Given the description of an element on the screen output the (x, y) to click on. 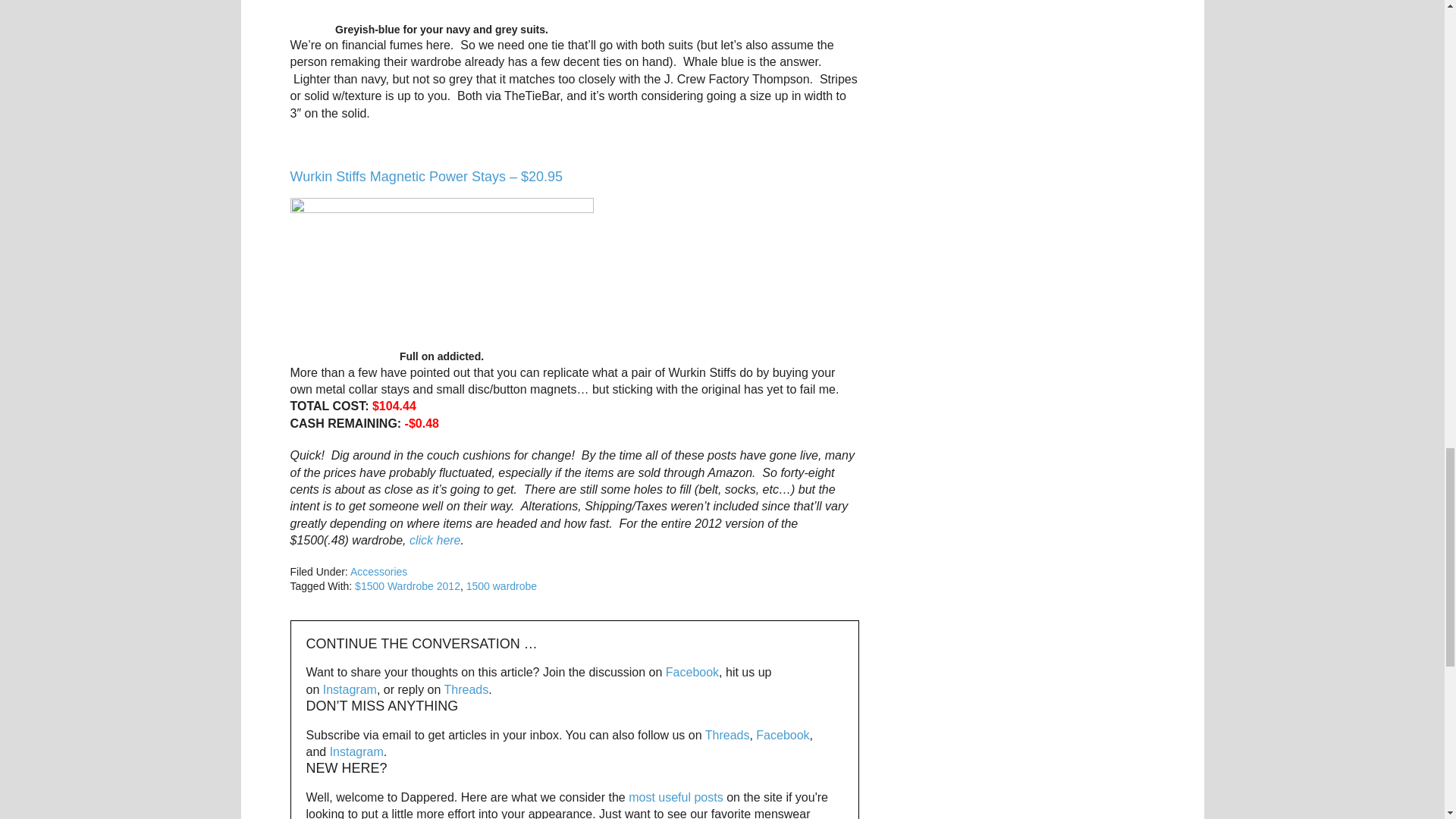
Accessories (378, 571)
Facebook (782, 735)
most useful posts (675, 797)
Threads (466, 689)
click here (435, 540)
Threads (726, 735)
Whale Blue Tie (440, 11)
Instagram (350, 689)
1500 wardrobe (501, 585)
1500WurkinStiffs (440, 273)
Instagram (357, 751)
Facebook (692, 671)
